Given the description of an element on the screen output the (x, y) to click on. 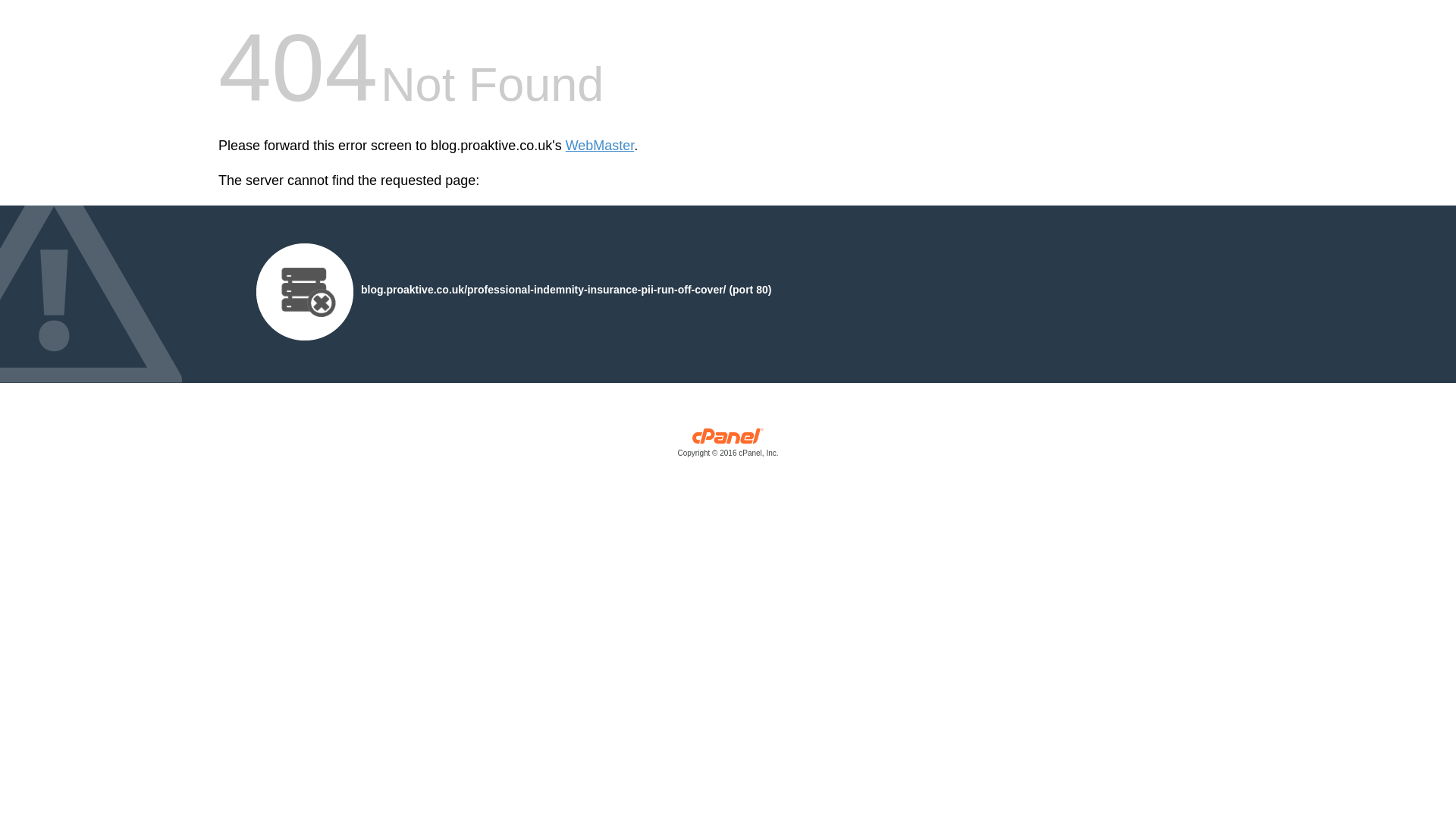
cPanel, Inc. (727, 446)
WebMaster (600, 145)
